Given the description of an element on the screen output the (x, y) to click on. 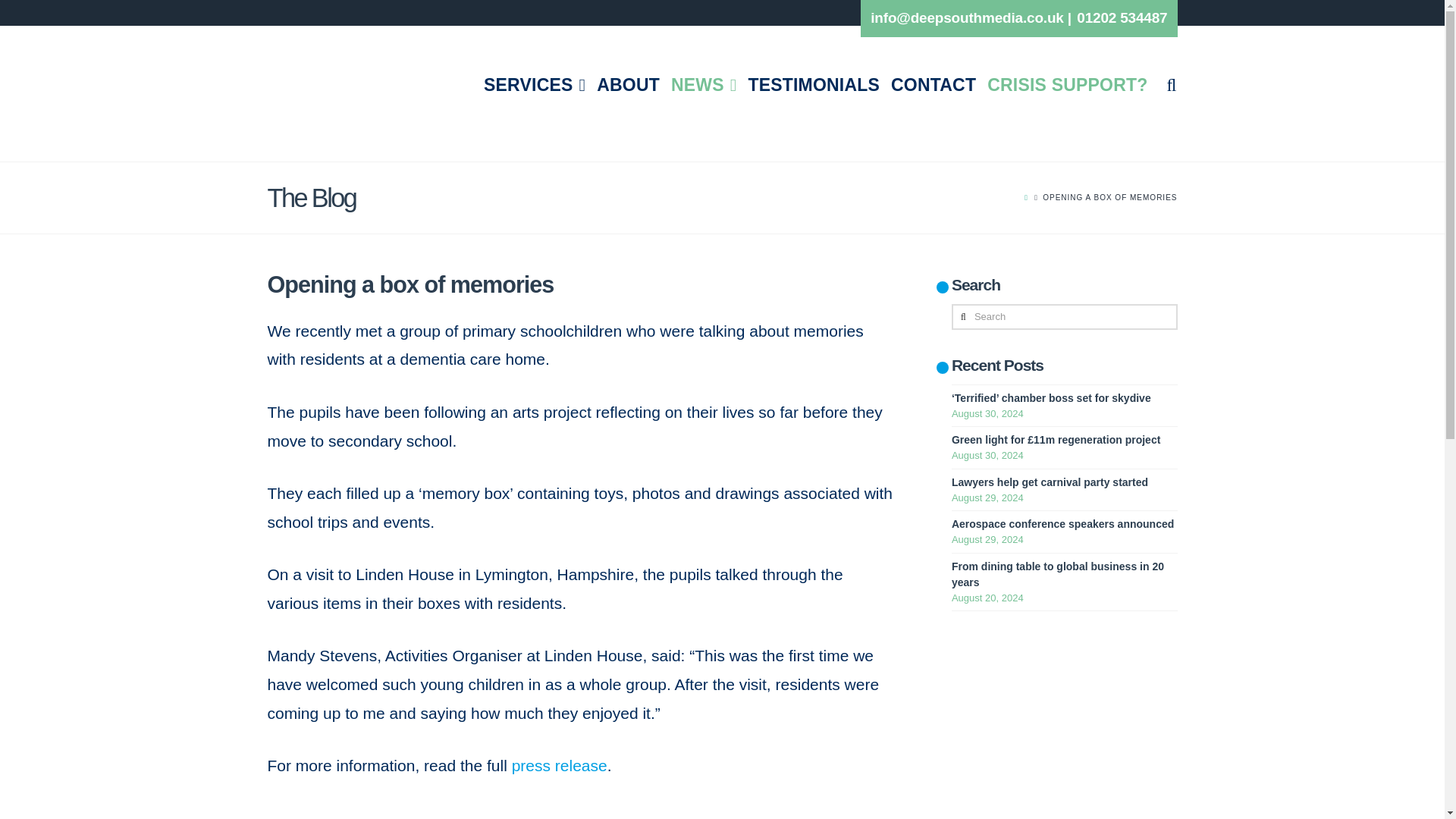
TESTIMONIALS (808, 115)
Journalists working for you (540, 47)
01202 534487 (1122, 17)
CRISIS SUPPORT? (1062, 115)
CONTACT (928, 115)
press release (559, 764)
SERVICES (529, 115)
